Given the description of an element on the screen output the (x, y) to click on. 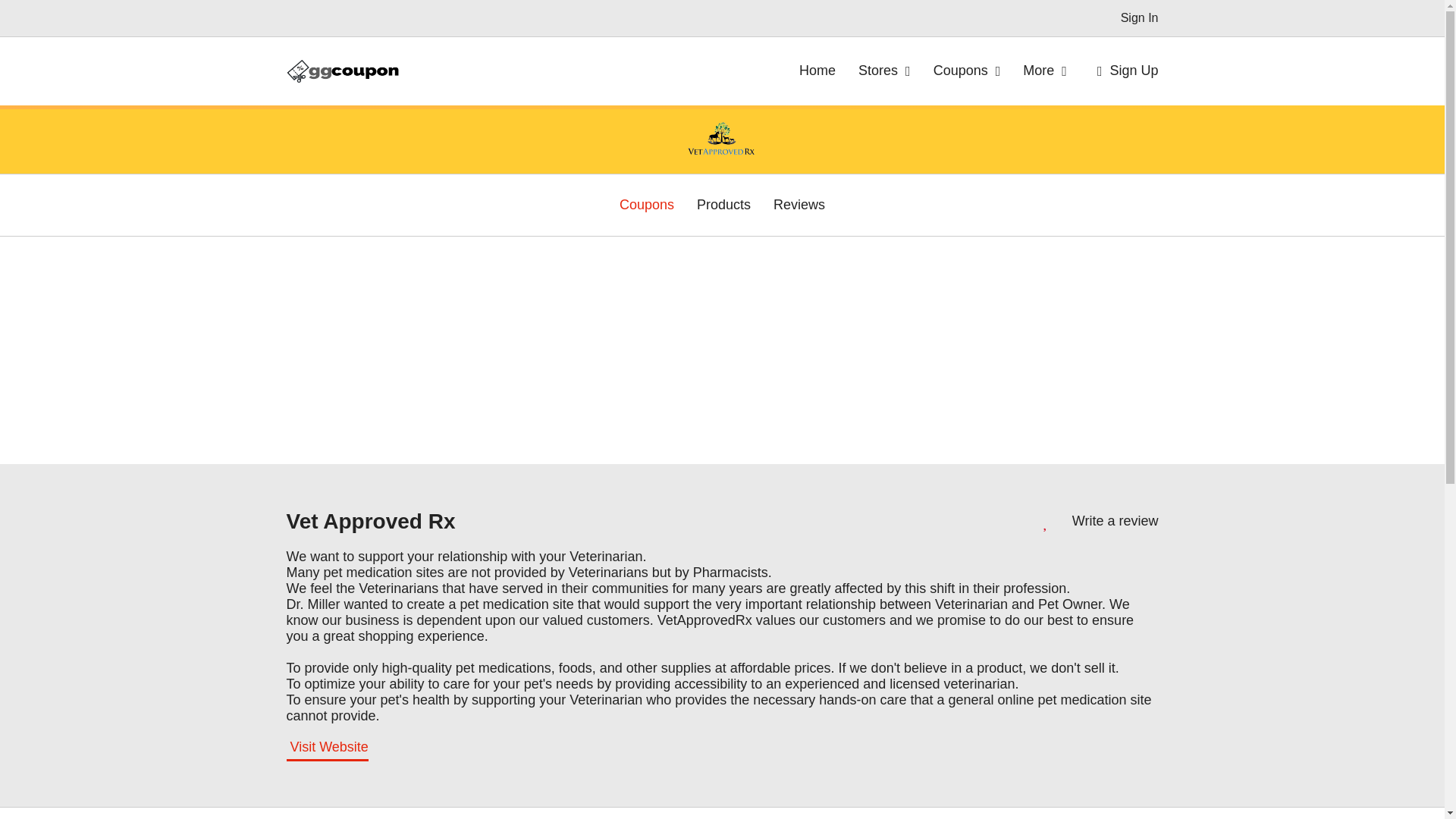
Home (817, 70)
Coupons (647, 204)
More (1045, 70)
Sign In (1139, 18)
Visit Website (327, 749)
Stores (885, 70)
Reviews (799, 204)
Coupons (967, 70)
Products (724, 204)
Write a review (1114, 521)
Sign Up (1123, 70)
